Given the description of an element on the screen output the (x, y) to click on. 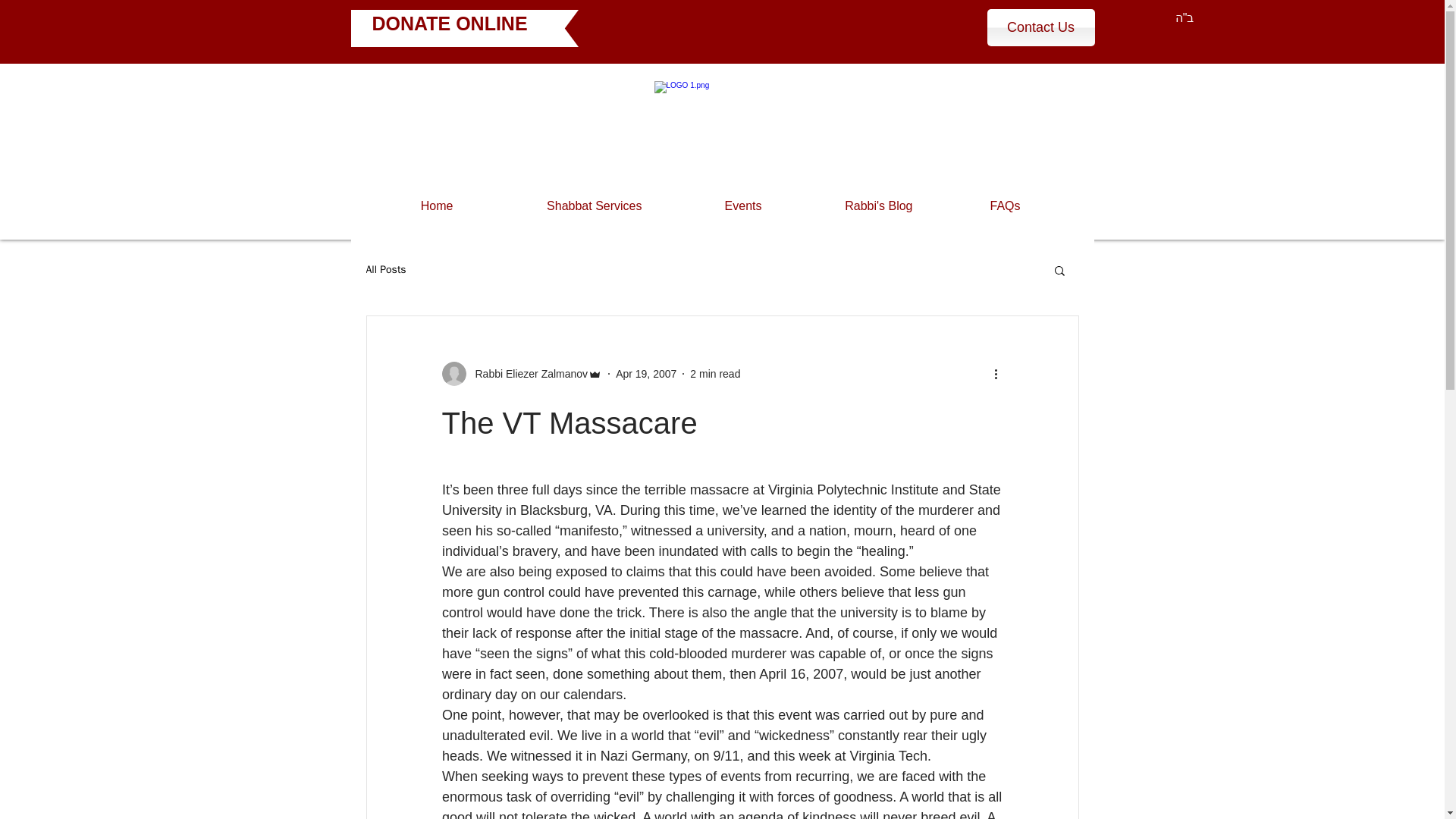
Rabbi Eliezer Zalmanov (526, 373)
Home (407, 205)
Rabbi Eliezer Zalmanov (521, 373)
Events (713, 205)
Shabbat Services (558, 205)
Rabbi's Blog (848, 205)
FAQs (976, 205)
DONATE ONLINE (449, 23)
Apr 19, 2007 (646, 372)
All Posts (385, 269)
2 min read (714, 372)
Contact Us (1040, 27)
